Given the description of an element on the screen output the (x, y) to click on. 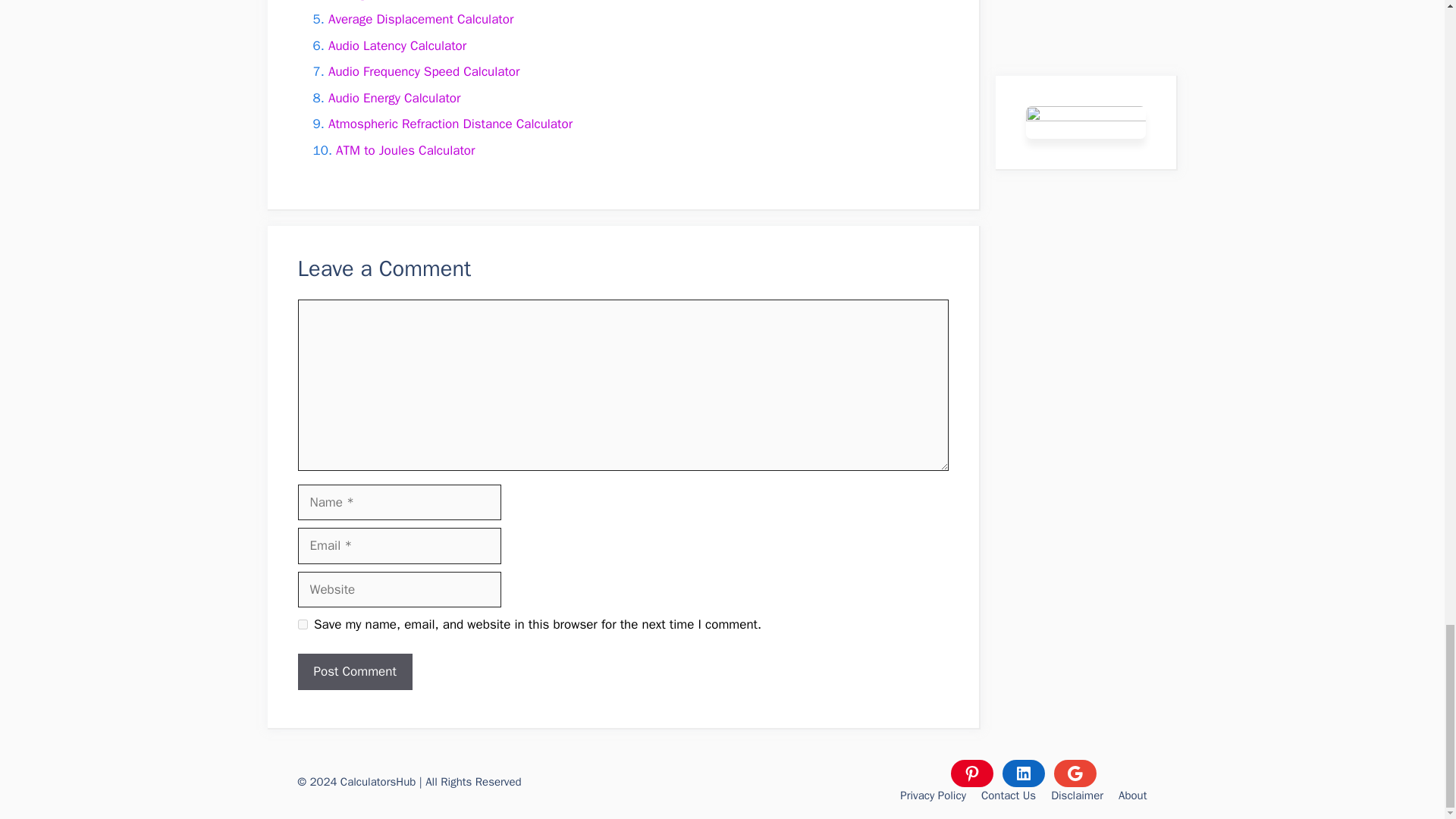
Post Comment (354, 671)
Audio Energy Calculator (395, 98)
ATM to Joules Calculator (405, 150)
yes (302, 624)
Audio Latency Calculator (397, 45)
Average Displacement Calculator (421, 19)
Audio Frequency Speed Calculator (424, 71)
Atmospheric Refraction Distance Calculator (450, 123)
